Given the description of an element on the screen output the (x, y) to click on. 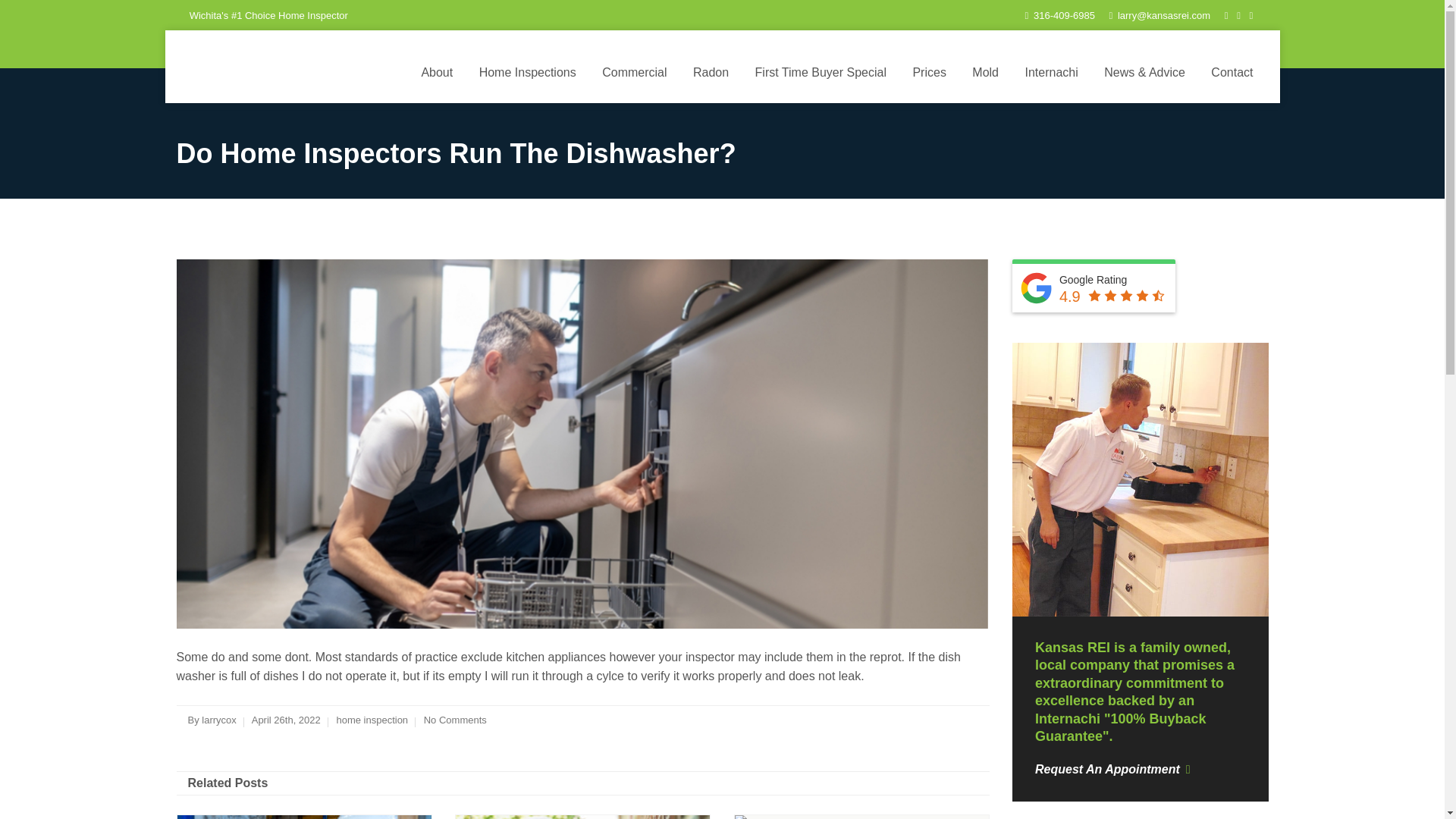
No Comments (454, 719)
Contact (1231, 72)
About (436, 72)
Mold (985, 72)
First Time Buyer Special (820, 72)
home inspection (371, 719)
316-409-6985 (1059, 15)
Radon (711, 72)
larrycox (218, 719)
Prices (928, 72)
Commercial (634, 72)
Kansas REI (282, 66)
Posts by larrycox (218, 719)
Home Inspections (527, 72)
Internachi (1051, 72)
